Given the description of an element on the screen output the (x, y) to click on. 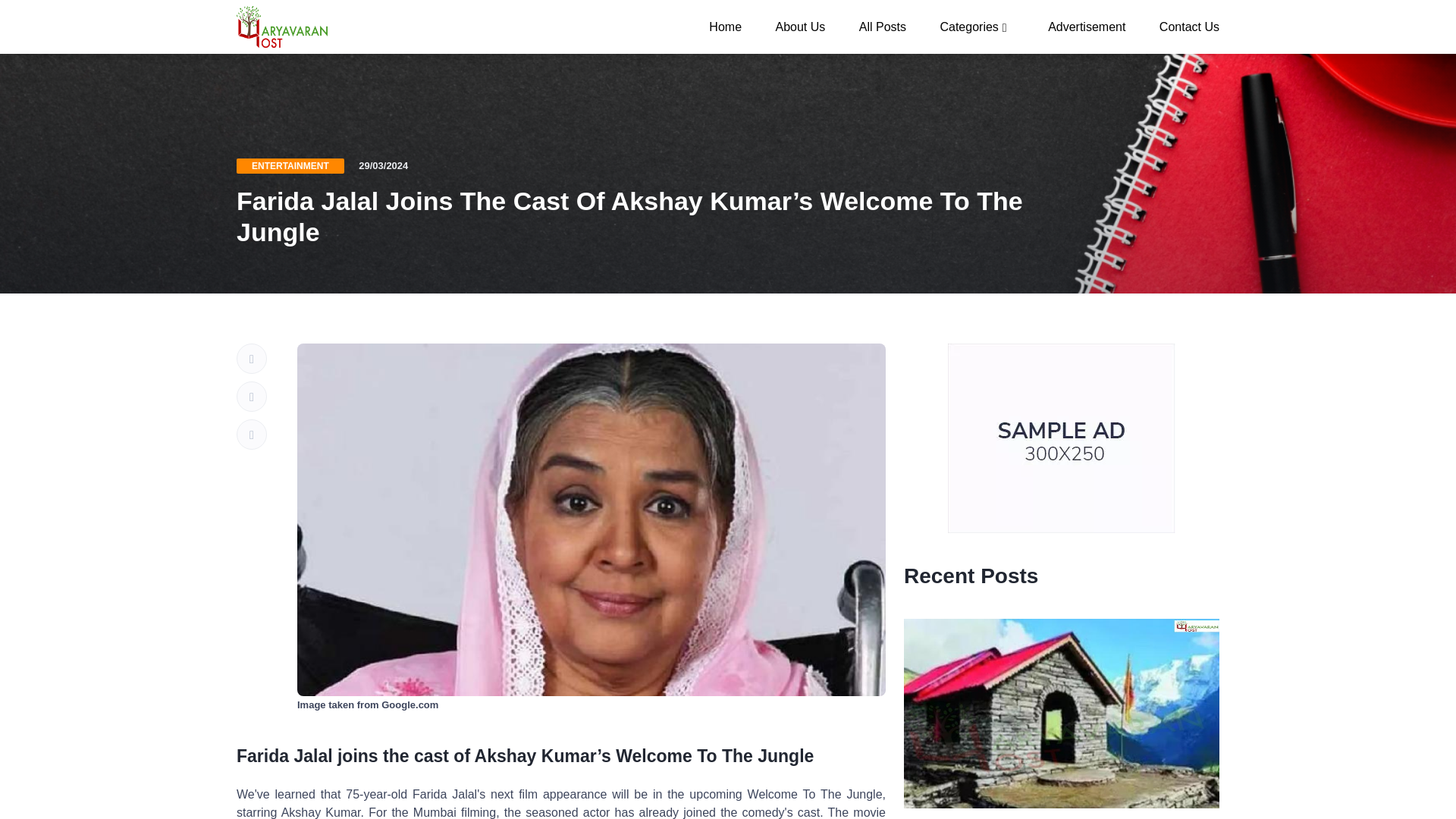
All Posts (882, 25)
Categories (976, 25)
ENTERTAINMENT (289, 165)
Contact Us (1182, 25)
About Us (800, 25)
Home (725, 25)
Advertisement (1086, 25)
